Given the description of an element on the screen output the (x, y) to click on. 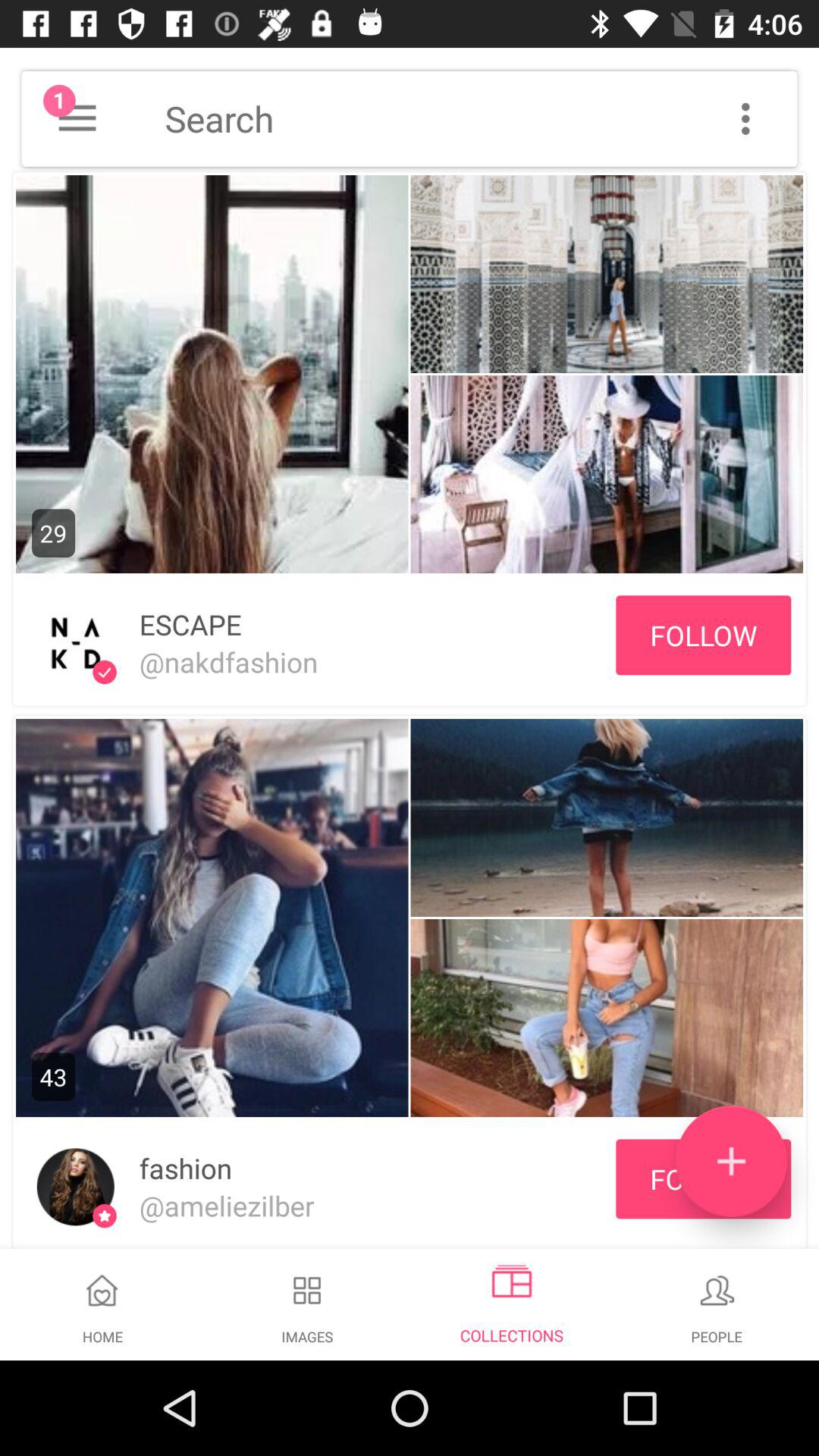
turn on the icon next to the fashion item (731, 1161)
